Given the description of an element on the screen output the (x, y) to click on. 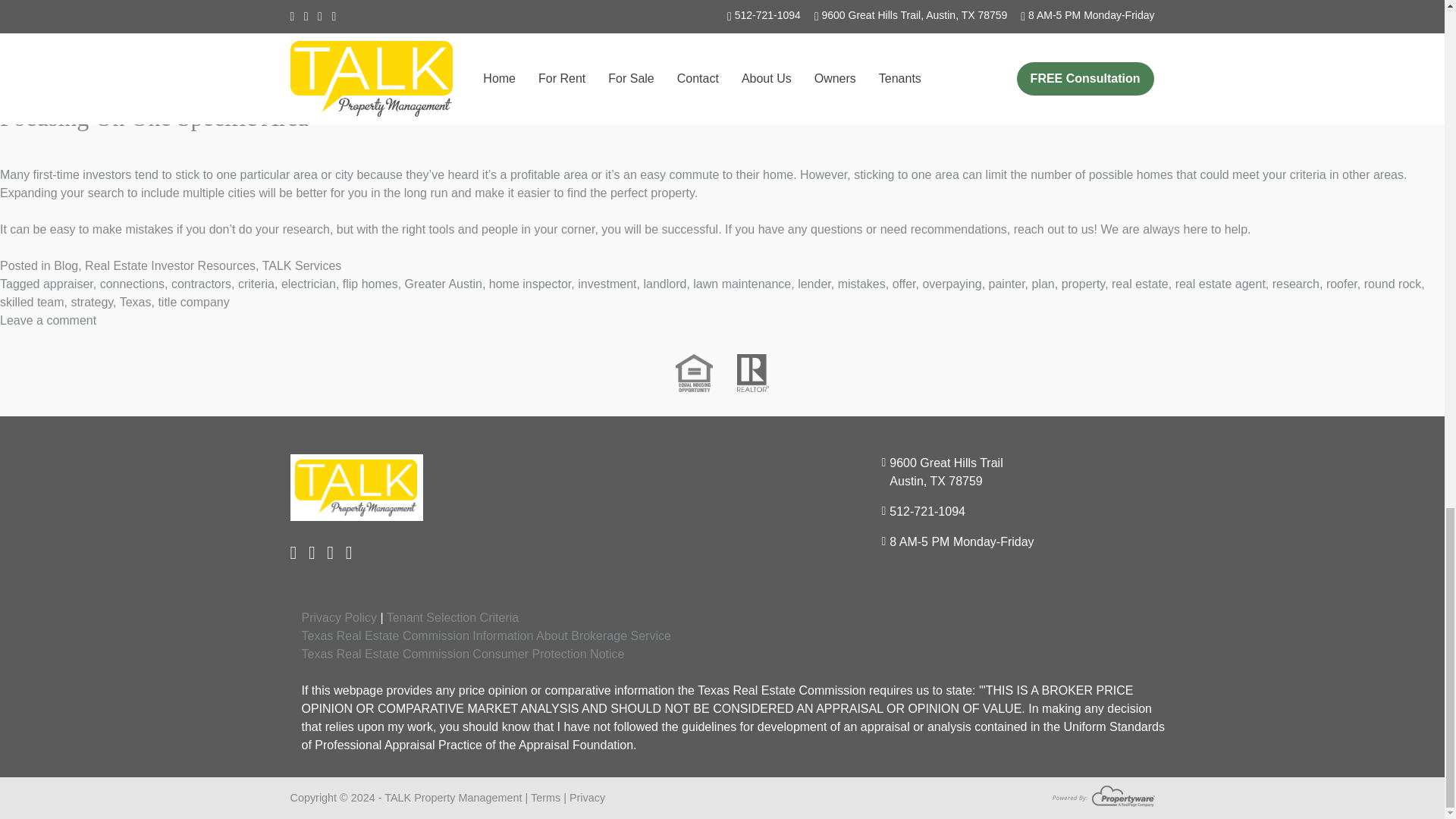
Powered by PropertyWare (1103, 794)
